Given the description of an element on the screen output the (x, y) to click on. 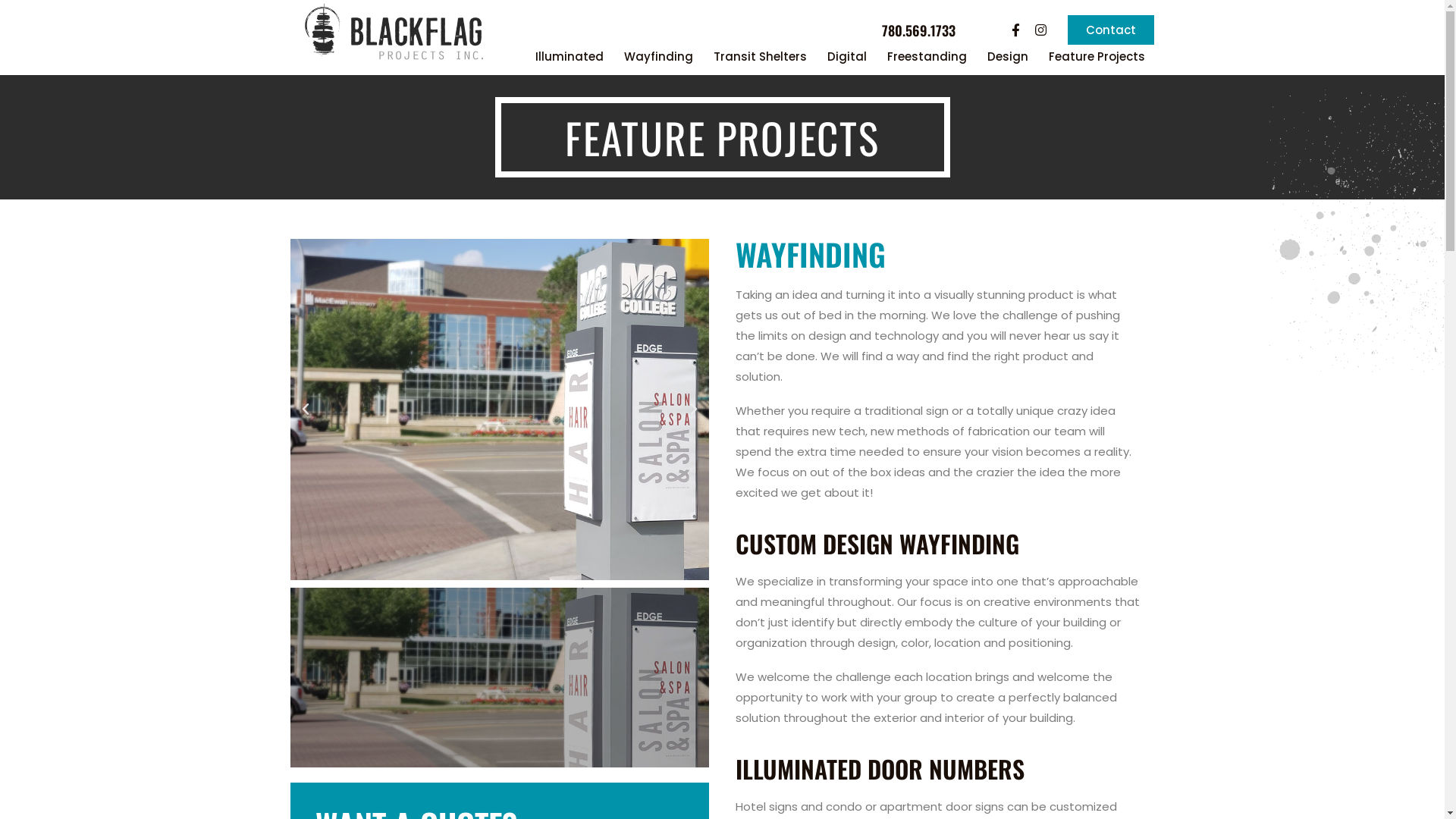
Freestanding Element type: text (926, 56)
Design Element type: text (1007, 56)
Wayfinding Element type: text (658, 56)
Feature Projects Element type: text (1096, 56)
Illuminated Element type: text (569, 56)
Digital Element type: text (846, 56)
Transit Shelters Element type: text (759, 56)
Contact Element type: text (1110, 29)
